Given the description of an element on the screen output the (x, y) to click on. 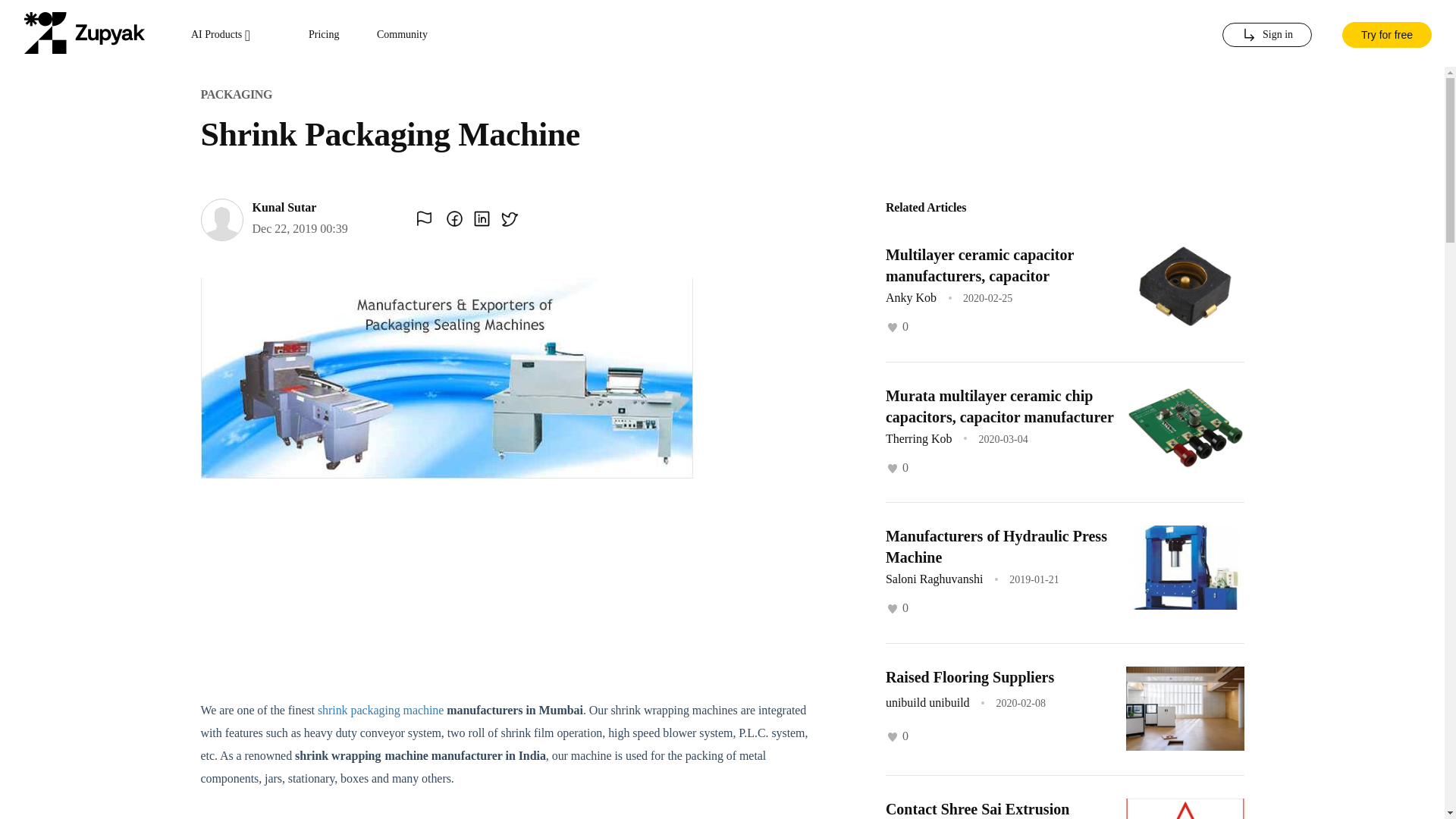
PACKAGING (235, 93)
Community (402, 34)
 Sign in (1267, 34)
Manufacturers of Hydraulic Press Machine (995, 546)
Pricing (323, 34)
Raised Flooring Suppliers (969, 677)
Try for free (1386, 33)
shrink packaging machine (380, 709)
